Given the description of an element on the screen output the (x, y) to click on. 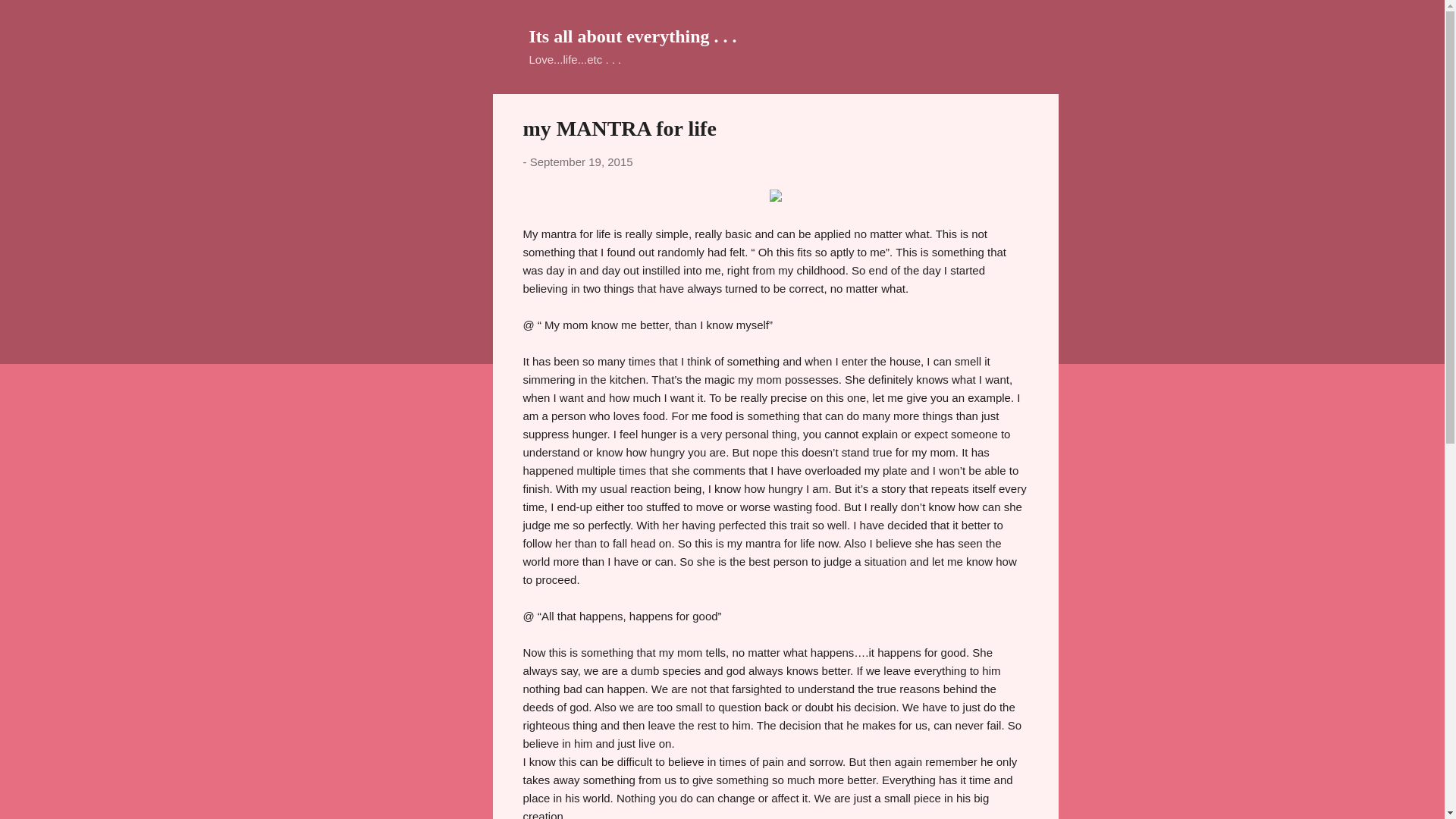
Search (29, 18)
permanent link (581, 161)
September 19, 2015 (581, 161)
Its all about everything . . . (632, 35)
